Given the description of an element on the screen output the (x, y) to click on. 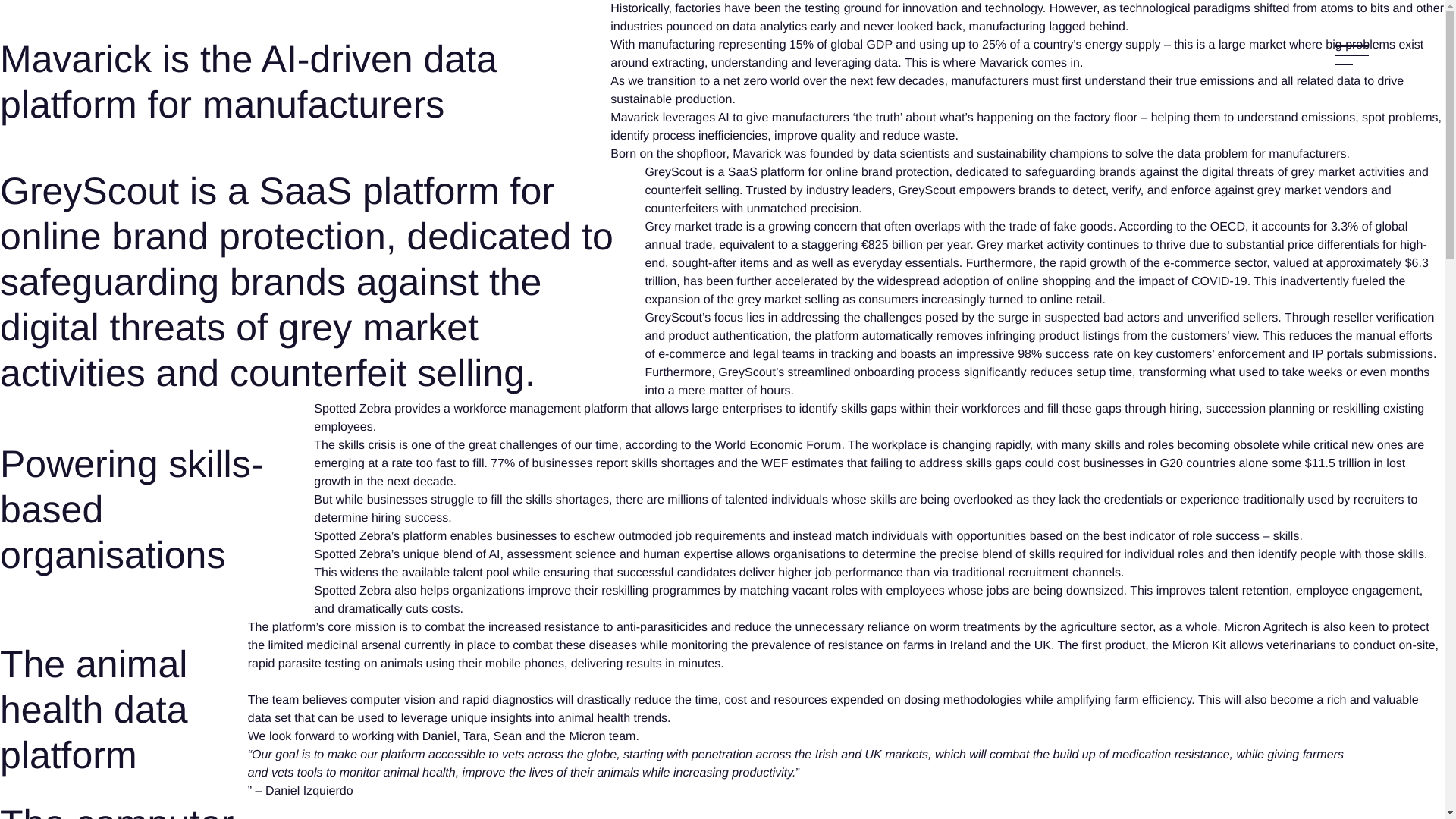
Mavarick (75, 58)
According to the OECD (1181, 226)
